Given the description of an element on the screen output the (x, y) to click on. 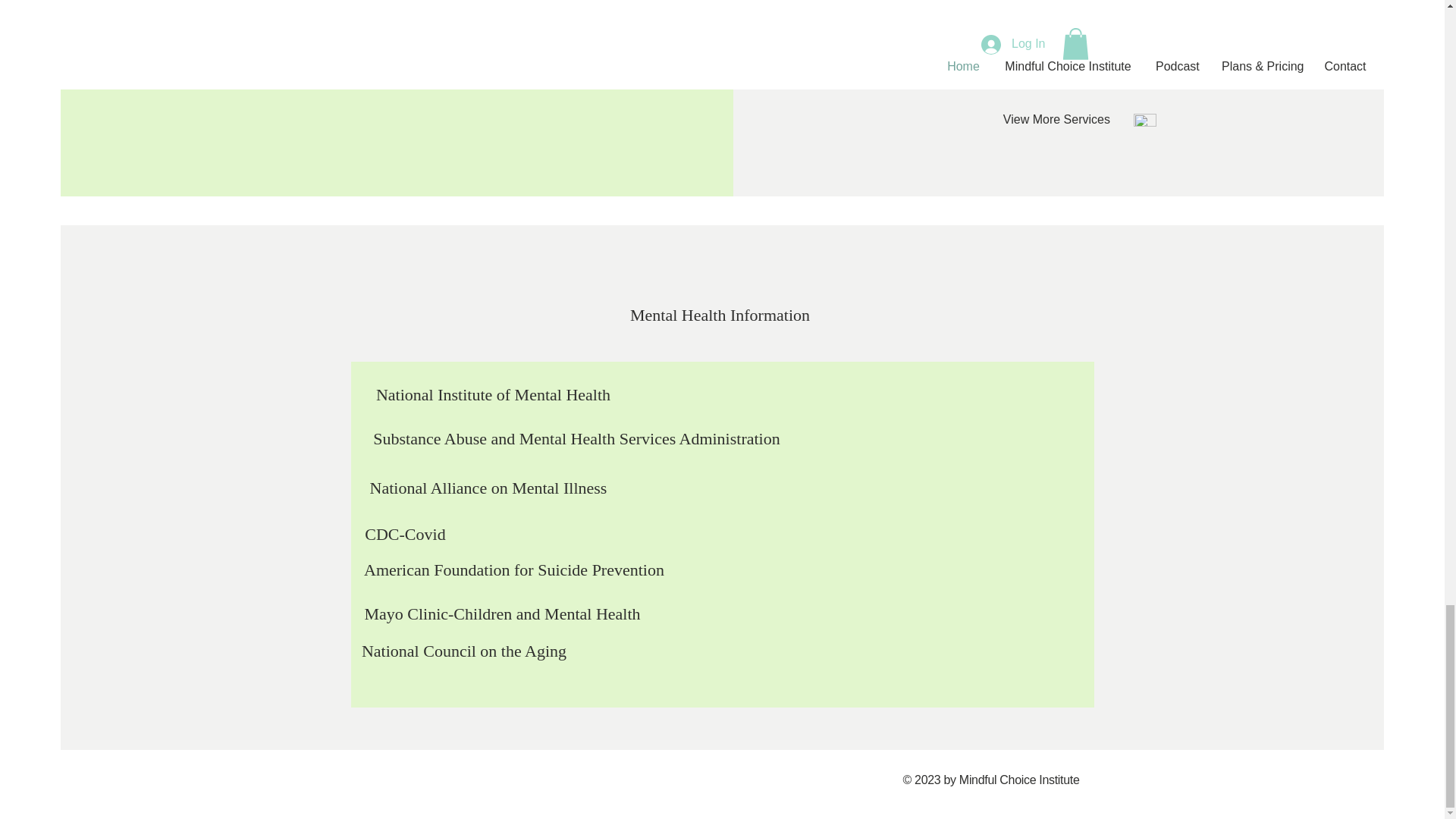
American Foundation for Suicide Prevention (514, 570)
Mayo Clinic-Children and Mental Health (502, 613)
National Council on the Aging (464, 651)
National Alliance on Mental Illness (487, 488)
CDC-Covid (406, 534)
View More Services (1056, 119)
Substance Abuse and Mental Health Services Administration (576, 439)
National Institute of Mental Health (492, 395)
